Given the description of an element on the screen output the (x, y) to click on. 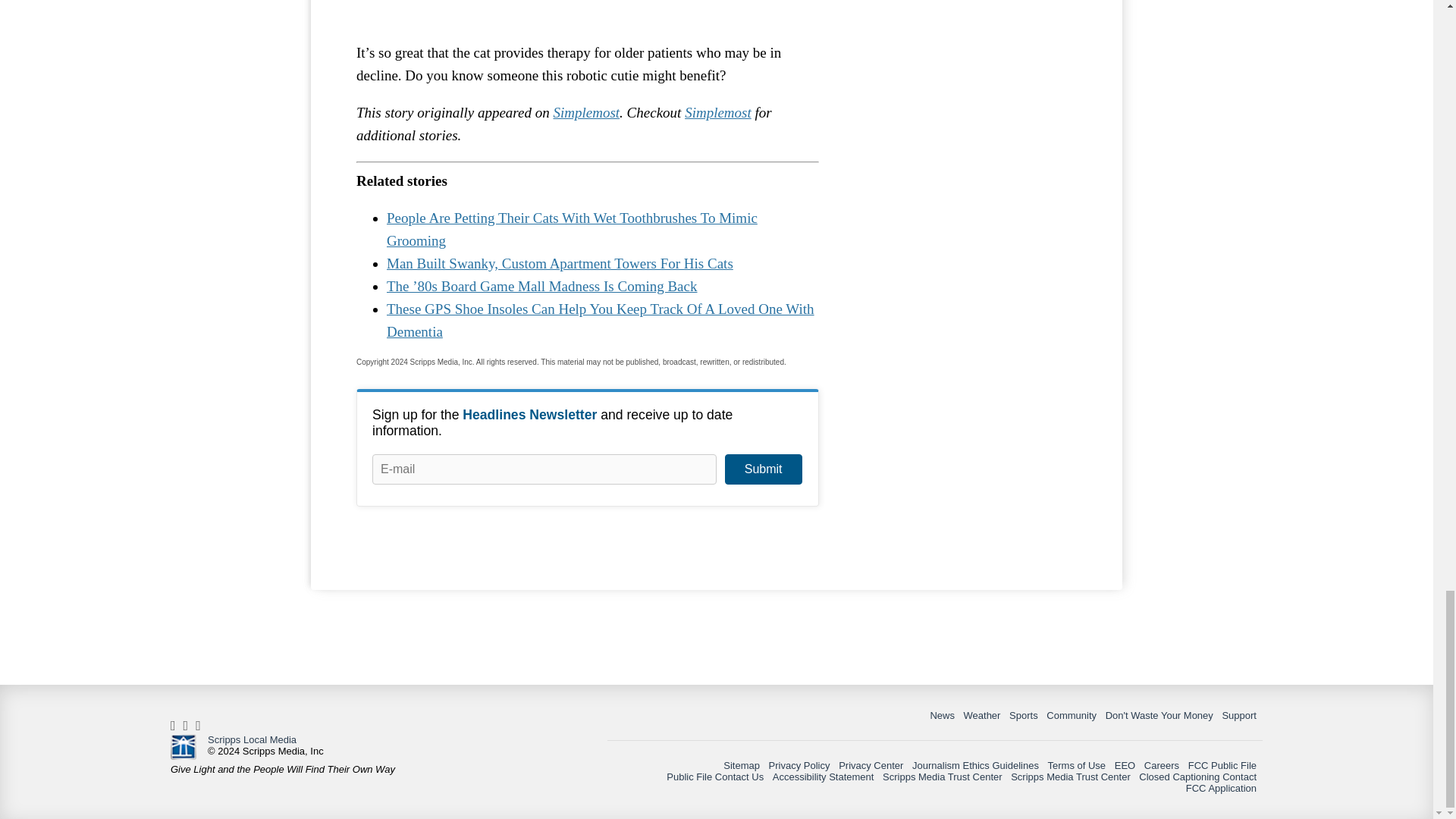
Submit (763, 469)
